Given the description of an element on the screen output the (x, y) to click on. 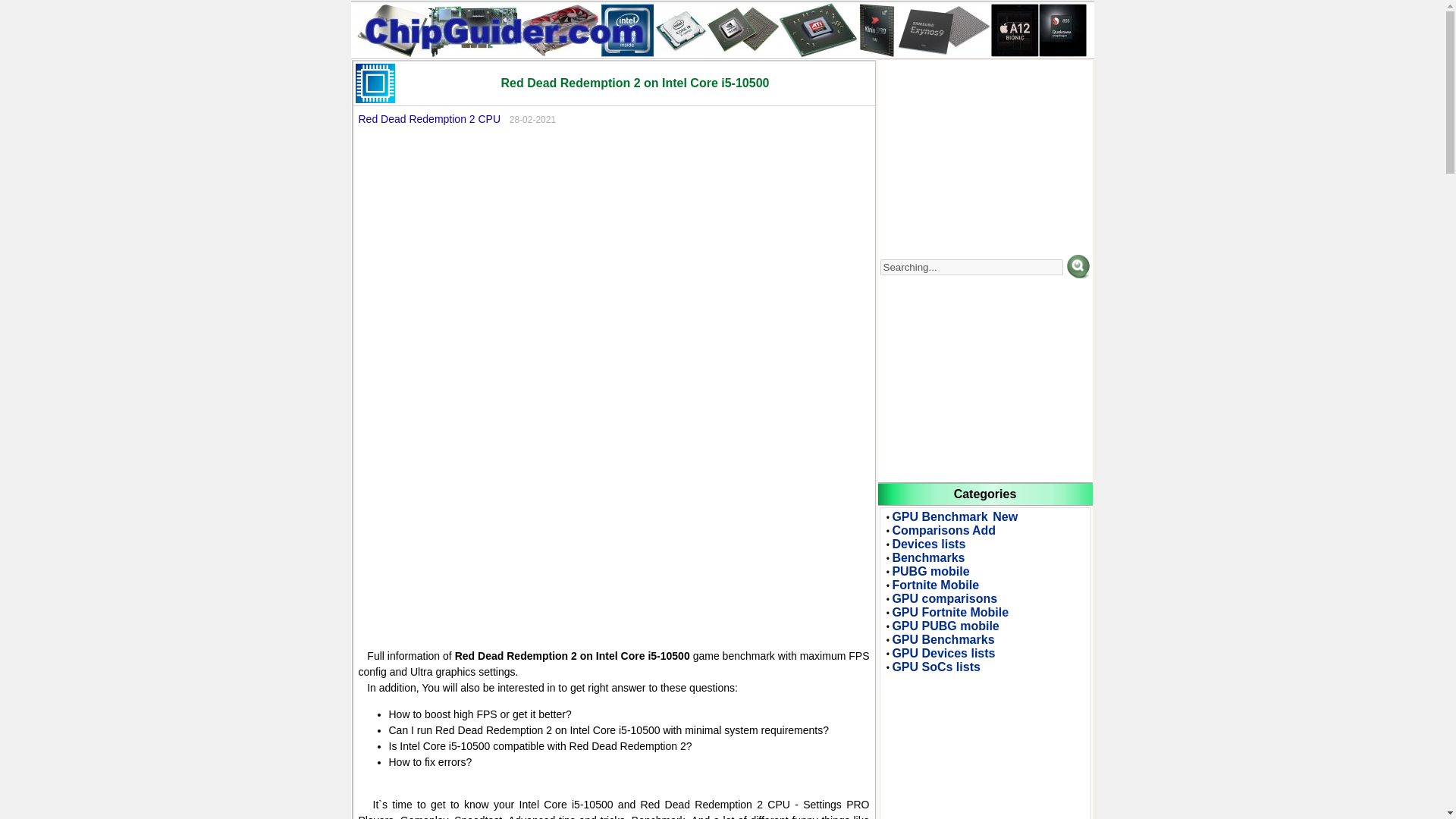
Advertisement (613, 259)
Searching... (970, 267)
Advertisement (613, 517)
Red Dead Redemption 2 CPU (429, 119)
